Given the description of an element on the screen output the (x, y) to click on. 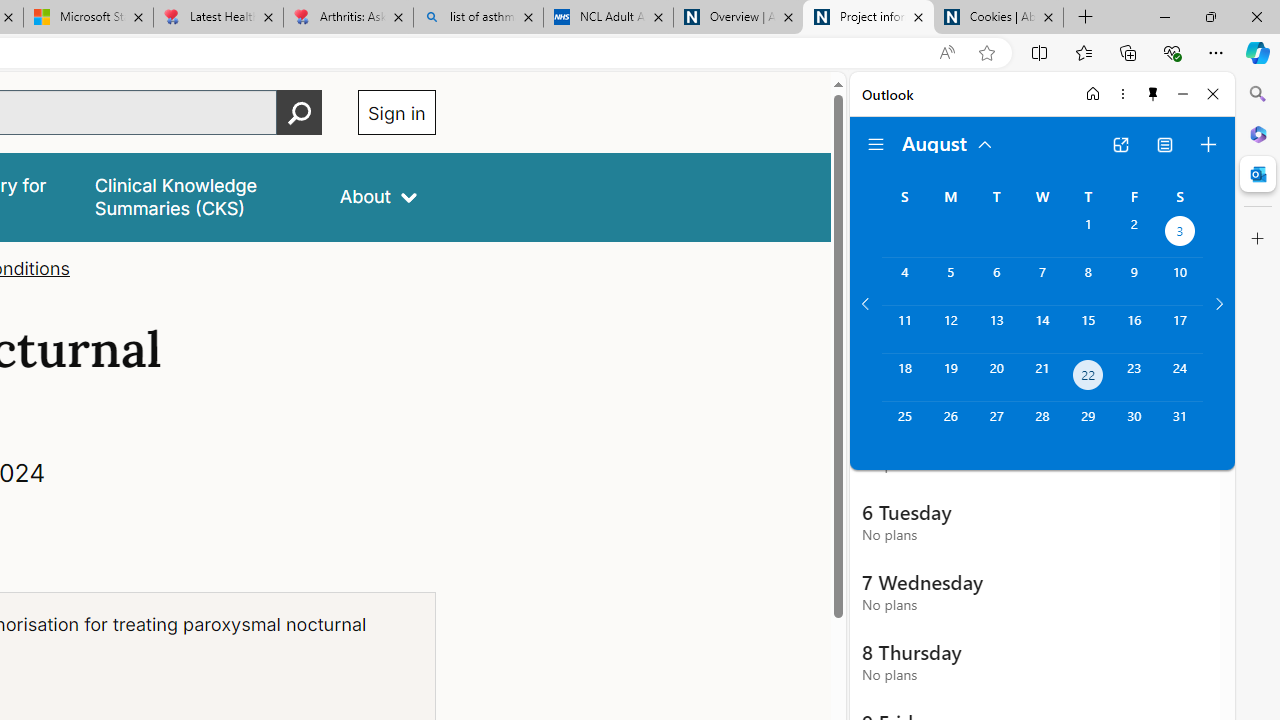
Monday, August 5, 2024.  (950, 281)
Close Customize pane (1258, 239)
Thursday, August 8, 2024.  (1088, 281)
Open in new tab (1120, 144)
Tuesday, August 6, 2024.  (996, 281)
Browser essentials (1171, 52)
Perform search (299, 112)
Monday, August 19, 2024.  (950, 377)
Sunday, August 25, 2024.  (904, 425)
Collections (1128, 52)
